Given the description of an element on the screen output the (x, y) to click on. 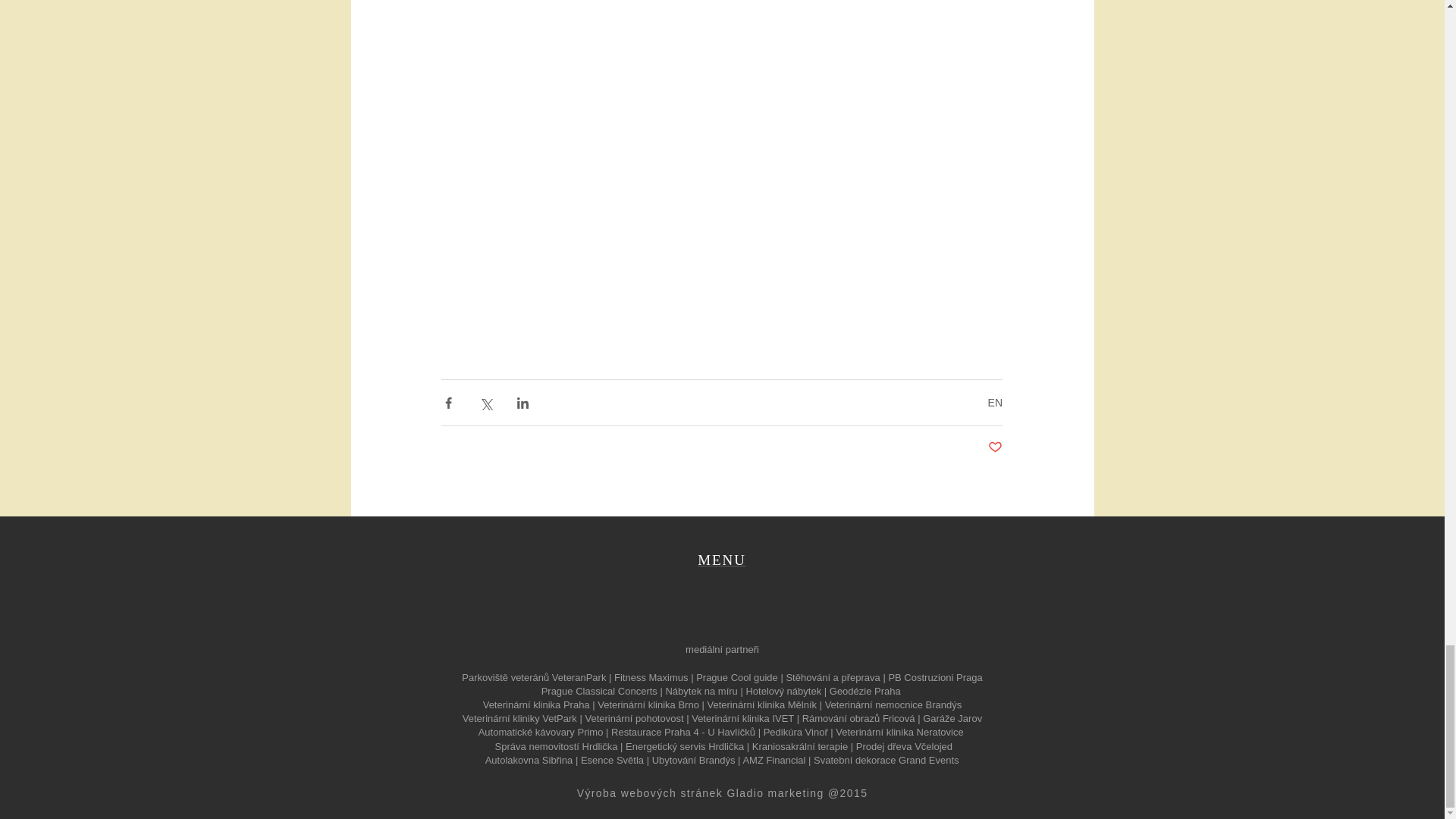
Fitness Maximus (651, 677)
Prague Classical Concerts (599, 690)
Post not marked as liked (995, 447)
Prague Cool guide (736, 677)
MENU (721, 560)
EN (995, 402)
PB Costruzioni Praga (934, 677)
